Given the description of an element on the screen output the (x, y) to click on. 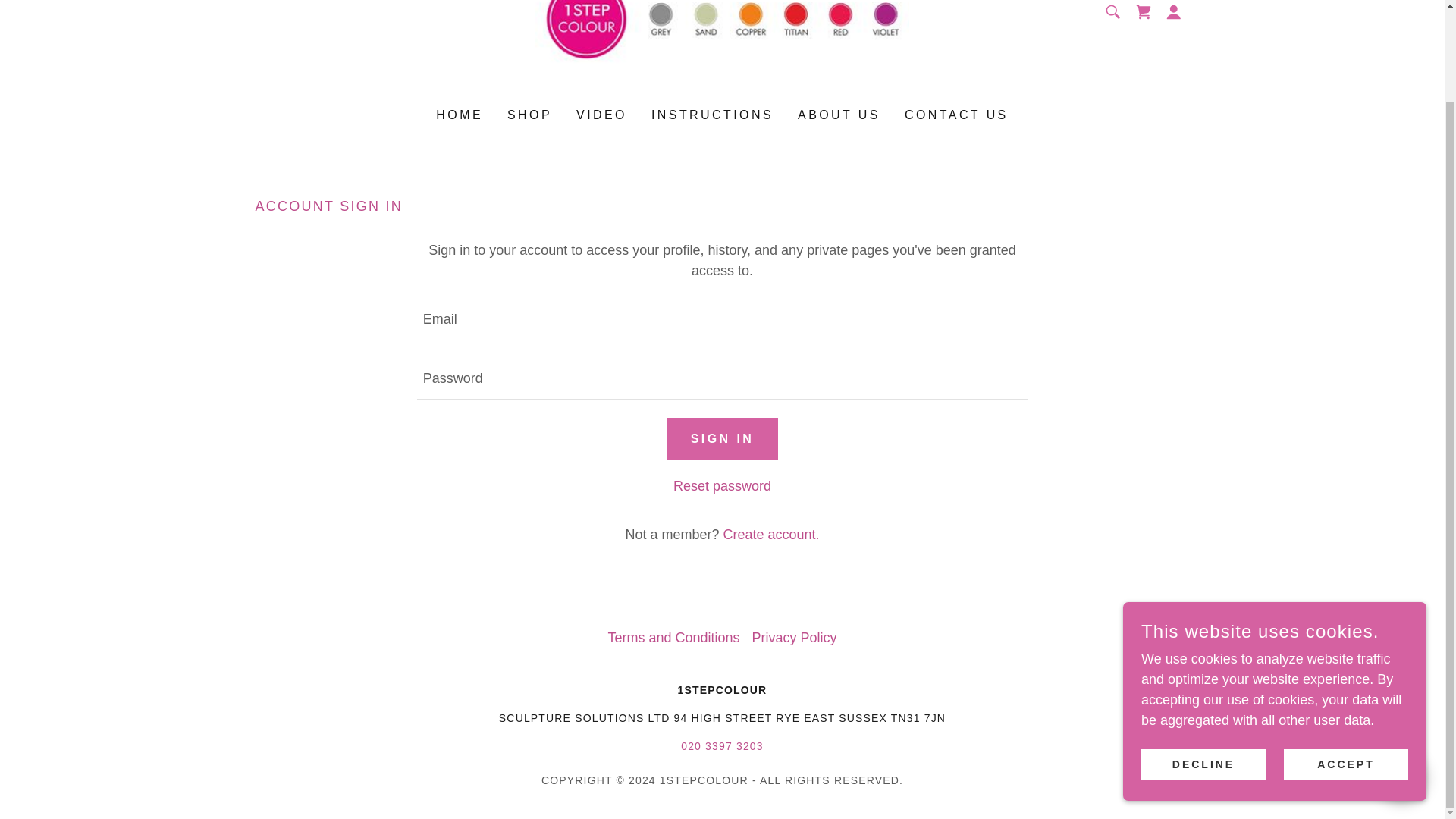
HOME (458, 114)
1StepColour (721, 11)
SHOP (529, 114)
SIGN IN (722, 438)
VIDEO (601, 114)
ABOUT US (839, 114)
Reset password (721, 485)
CONTACT US (956, 114)
INSTRUCTIONS (711, 114)
Create account. (770, 534)
